Given the description of an element on the screen output the (x, y) to click on. 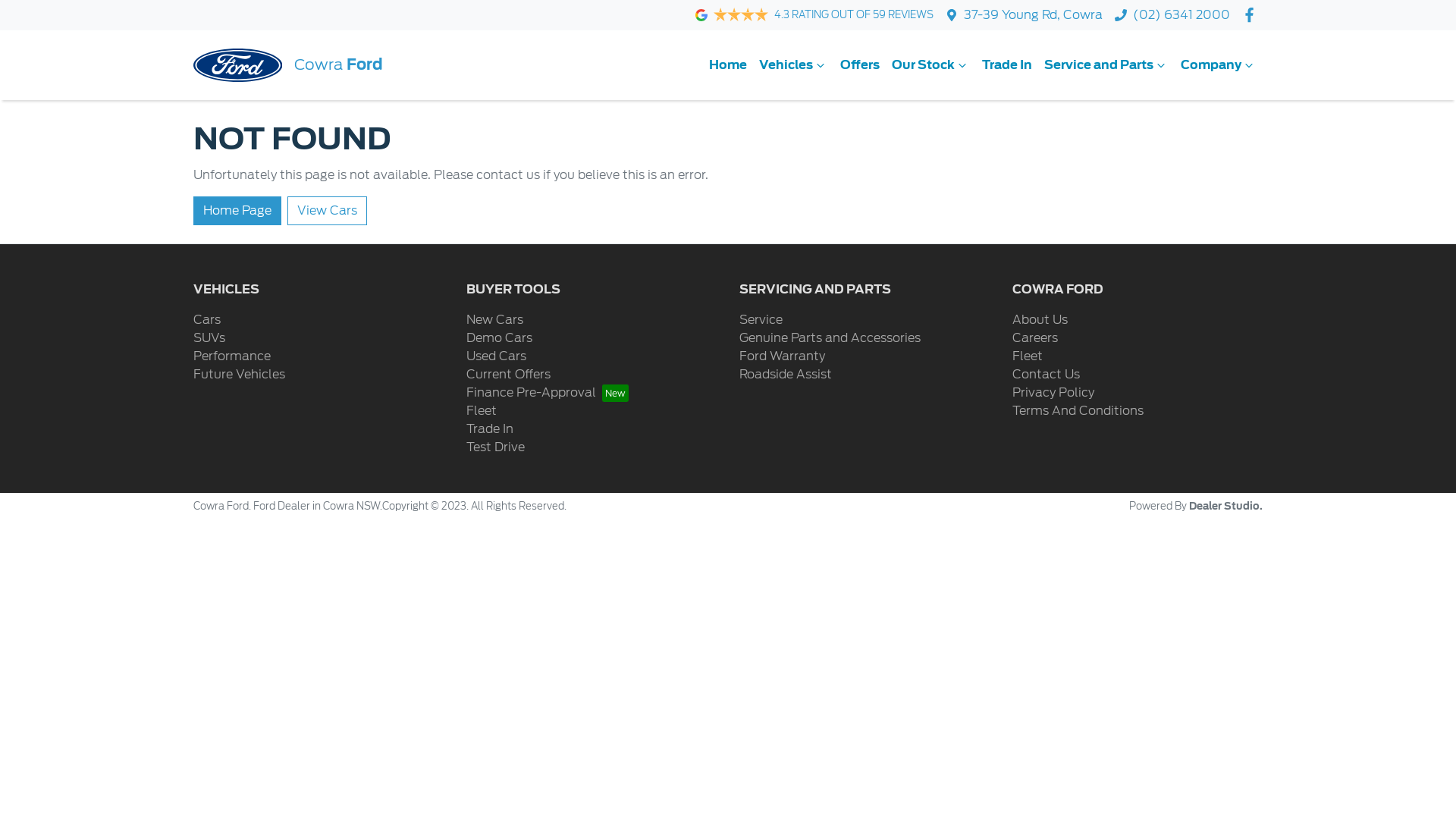
About Us Element type: text (1039, 319)
Vehicles Element type: text (793, 65)
Company Element type: text (1218, 65)
Our Stock Element type: text (930, 65)
Current Offers Element type: text (508, 374)
37-39 Young Rd, Cowra Element type: text (1032, 14)
New Cars Element type: text (494, 319)
Test Drive Element type: text (495, 446)
Ford Warranty Element type: text (782, 355)
Cowra Ford Element type: text (287, 65)
Performance Element type: text (231, 355)
Terms And Conditions Element type: text (1077, 410)
Contact Us Element type: text (1045, 374)
Dealer Studio. Element type: text (1225, 505)
Service and Parts Element type: text (1106, 65)
Careers Element type: text (1034, 337)
Demo Cars Element type: text (499, 337)
Future Vehicles Element type: text (239, 374)
Home Page Element type: text (237, 210)
Roadside Assist Element type: text (785, 374)
Offers Element type: text (859, 65)
Privacy Policy Element type: text (1053, 392)
Fleet Element type: text (481, 410)
Cars Element type: text (206, 319)
Service Element type: text (760, 319)
Home Element type: text (727, 65)
Trade In Element type: text (1006, 65)
Used Cars Element type: text (496, 355)
Finance Pre-Approval Element type: text (547, 392)
Genuine Parts and Accessories Element type: text (829, 337)
View Cars Element type: text (327, 210)
SUVs Element type: text (209, 337)
Trade In Element type: text (489, 428)
Fleet Element type: text (1027, 355)
(02) 6341 2000 Element type: text (1181, 14)
